Given the description of an element on the screen output the (x, y) to click on. 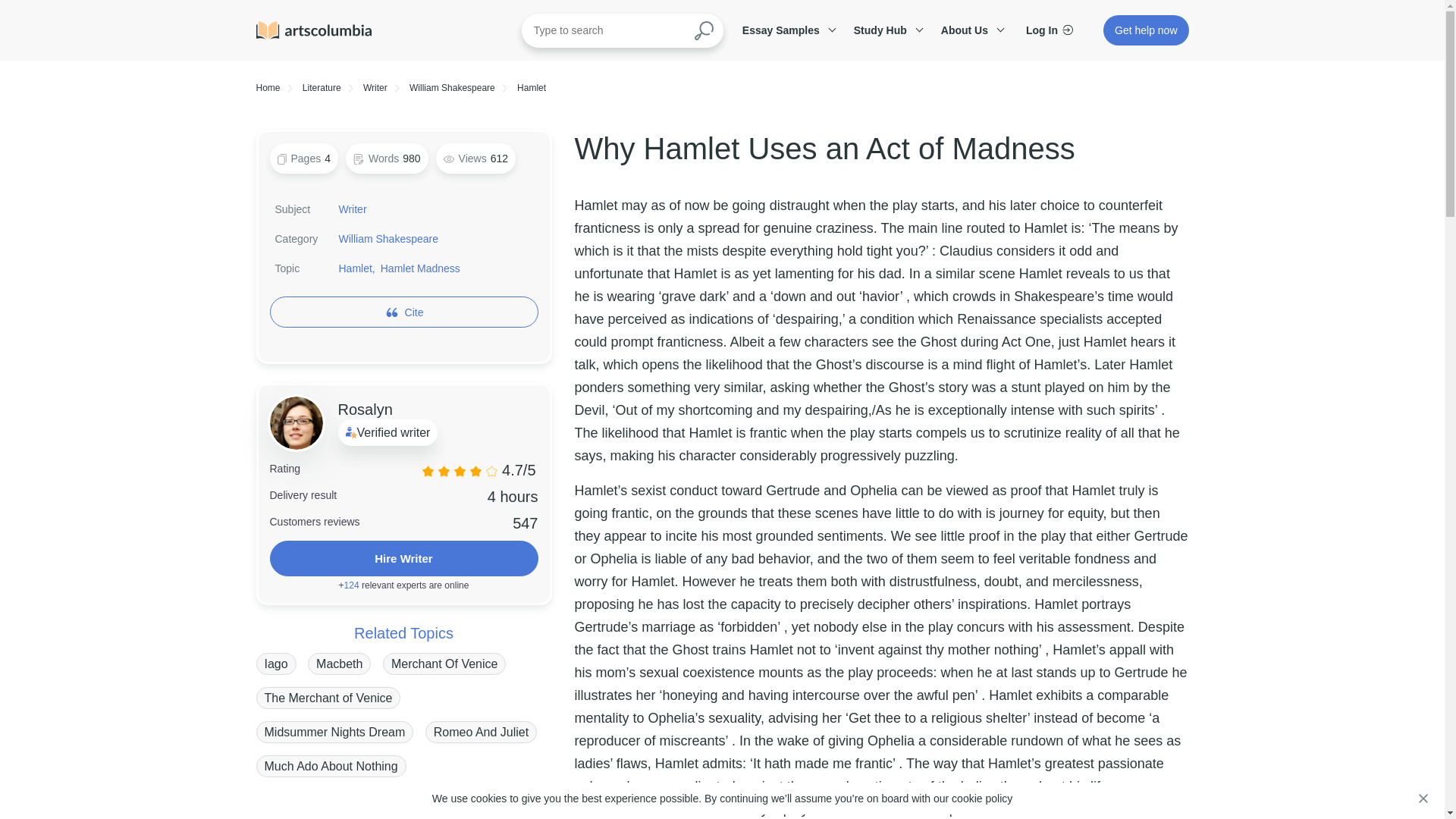
Writer (352, 209)
Log In (1049, 30)
Writer (374, 87)
About Us (970, 30)
Literature (321, 87)
Essay Samples (786, 30)
Home (268, 87)
Study Hub (886, 30)
Cite (413, 312)
Hamlet (531, 87)
